Given the description of an element on the screen output the (x, y) to click on. 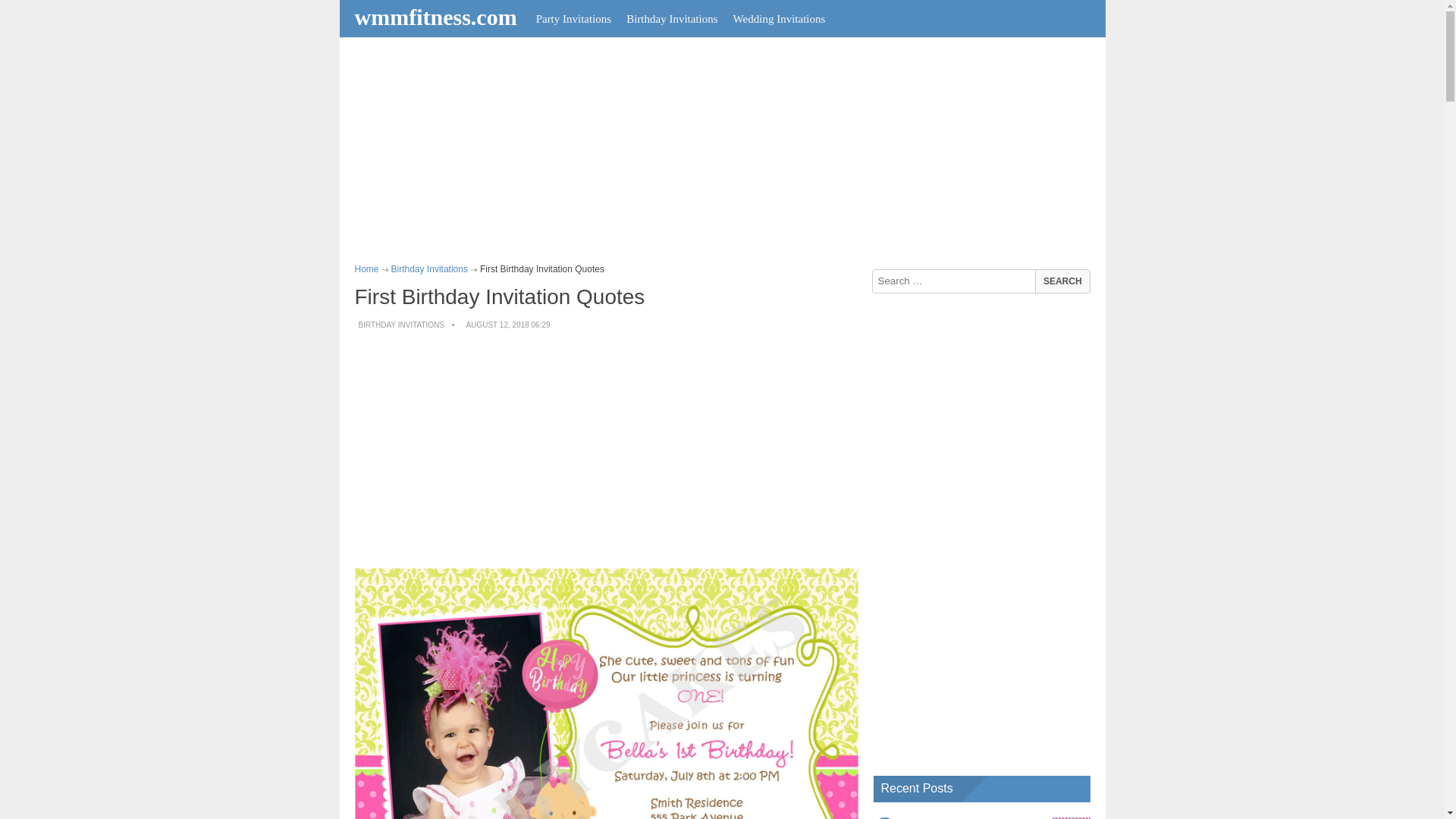
Advertisement (607, 449)
Search (1062, 281)
Wedding Invitations (778, 18)
Birthday Invitations (429, 268)
BIRTHDAY INVITATIONS (401, 325)
Home (366, 268)
Search (1062, 281)
Party Invitations (574, 18)
wmmfitness.com (437, 16)
Birthday Invitations (671, 18)
